Given the description of an element on the screen output the (x, y) to click on. 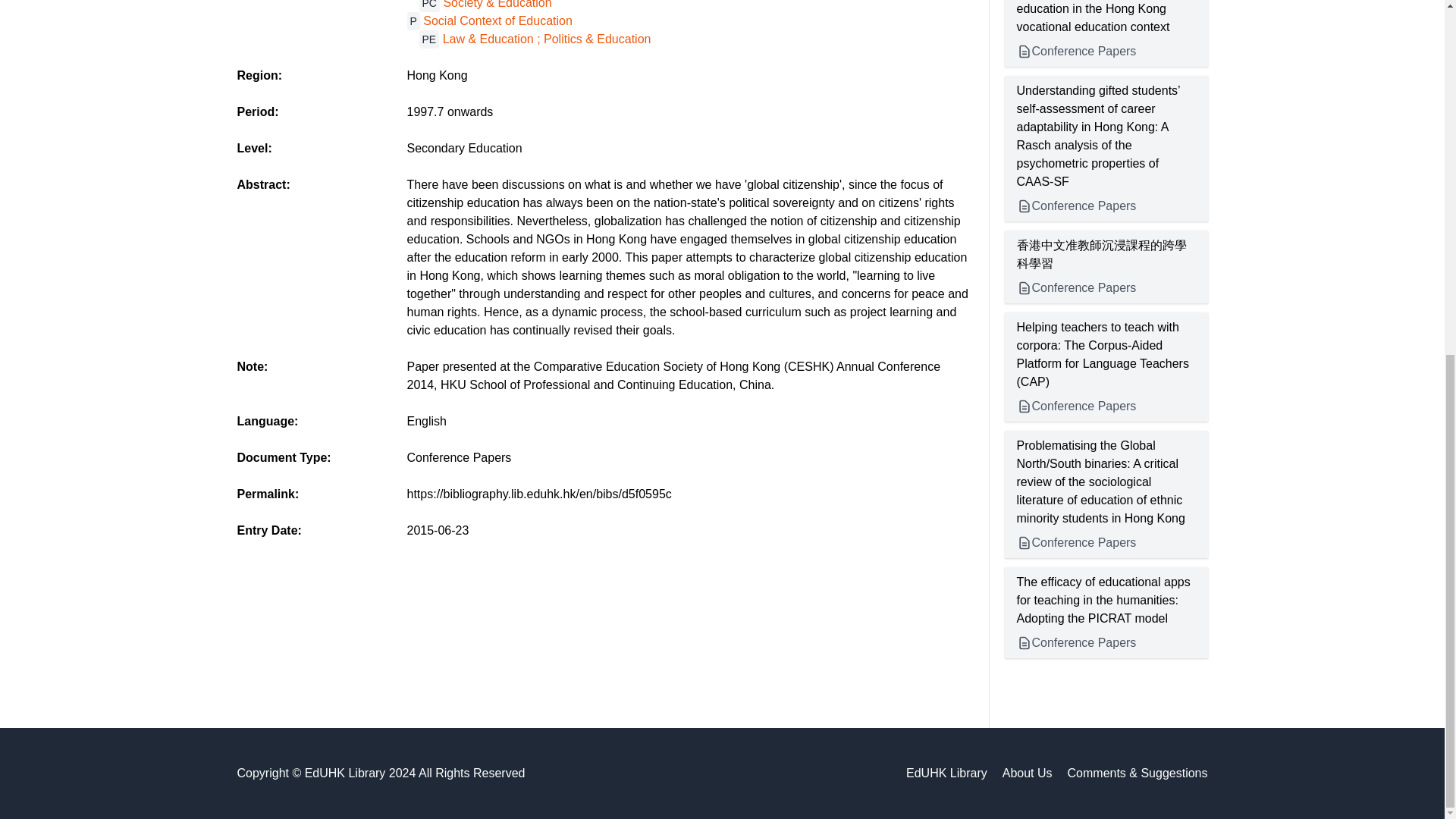
P Social Context of Education (489, 20)
